Given the description of an element on the screen output the (x, y) to click on. 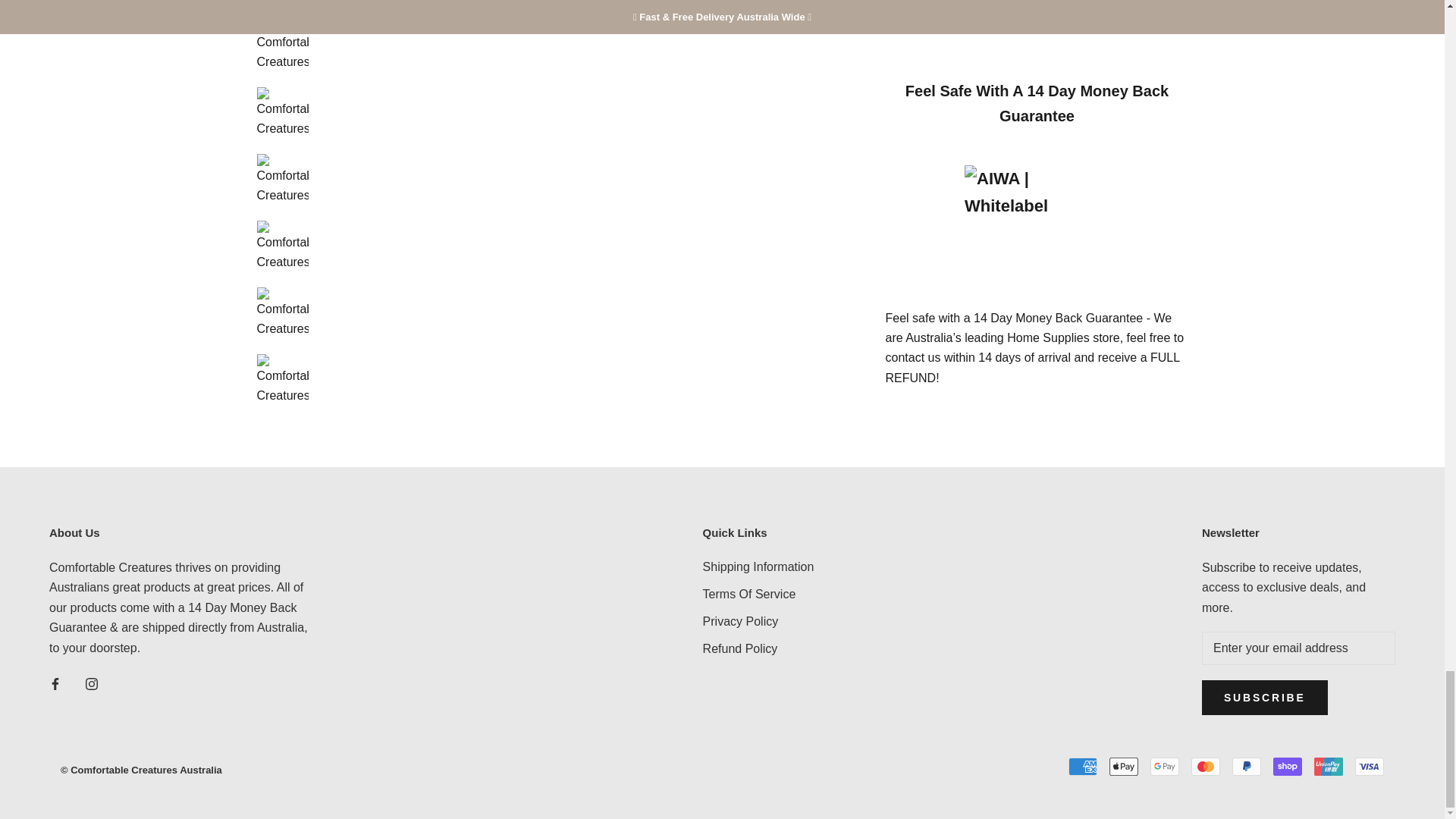
Visa (1369, 766)
Mastercard (1205, 766)
PayPal (1245, 766)
Google Pay (1164, 766)
Apple Pay (1123, 766)
Union Pay (1328, 766)
Shop Pay (1286, 766)
American Express (1082, 766)
